Given the description of an element on the screen output the (x, y) to click on. 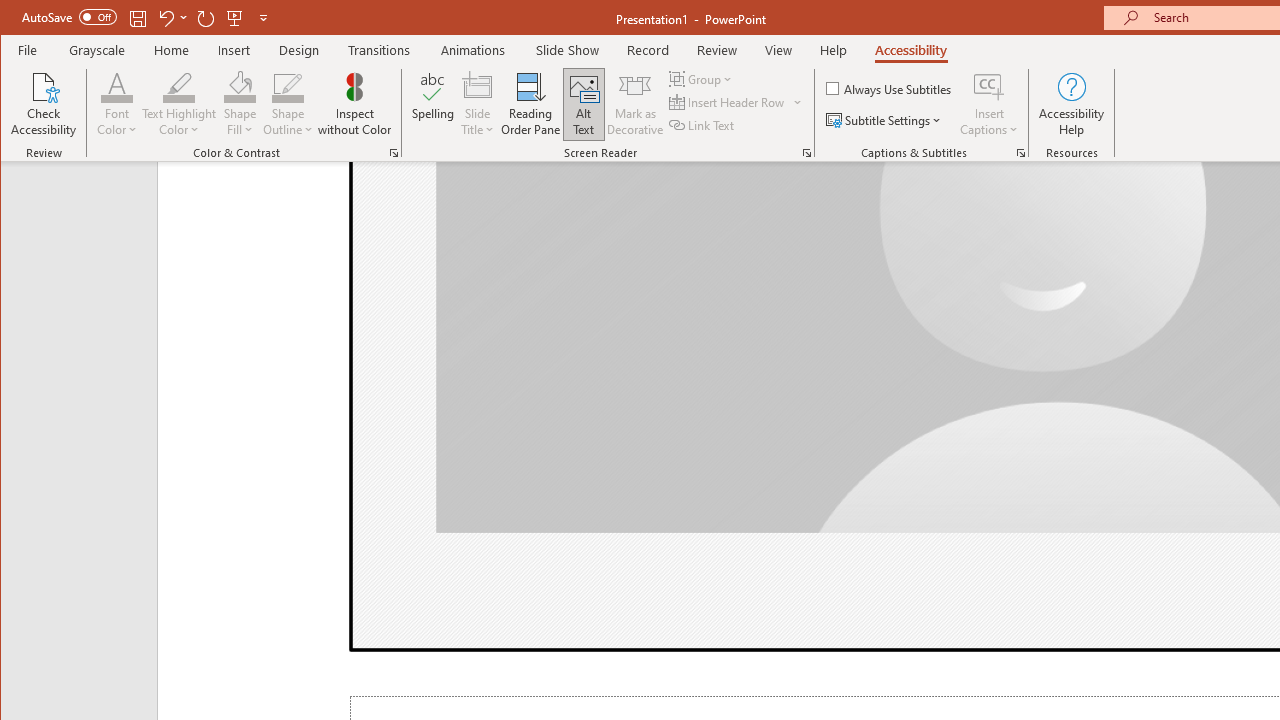
Color & Contrast (393, 152)
Screen Reader (806, 152)
Accessibility Help (1071, 104)
Mark as Decorative (635, 104)
Always Use Subtitles (890, 88)
